Given the description of an element on the screen output the (x, y) to click on. 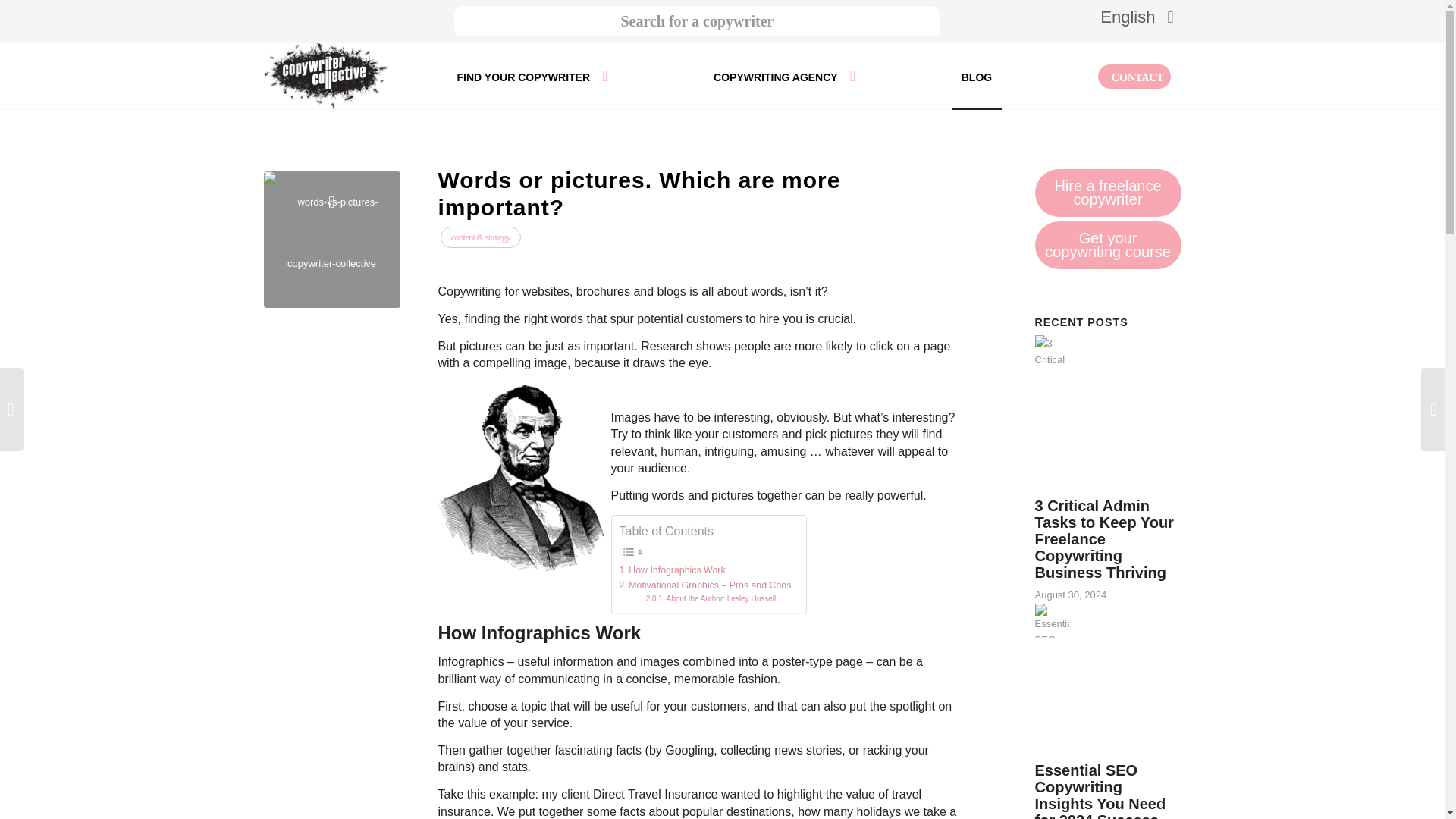
About the Author: Lesley Hussell (711, 598)
RECENT POSTS (1079, 322)
Hire a freelance copywriter (1106, 192)
How Infographics Work (671, 570)
CONTACT (1133, 75)
COPYWRITING AGENCY (783, 75)
English (1130, 17)
How Infographics Work (671, 570)
About the Author: Lesley Hussell (711, 598)
words-vs-pictures-copywriter-collective (331, 239)
